Given the description of an element on the screen output the (x, y) to click on. 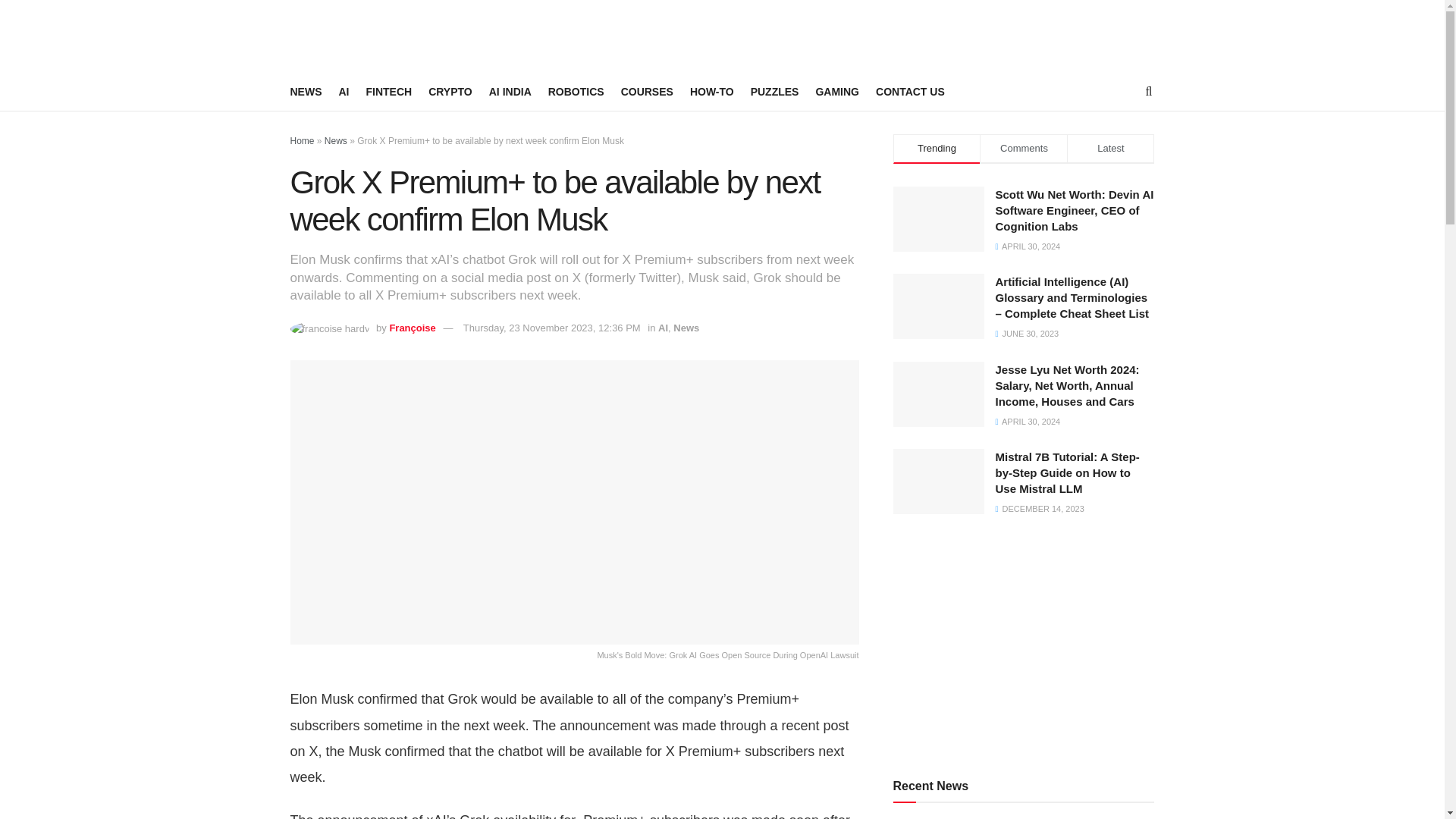
NEWS (305, 91)
AI INDIA (510, 91)
ROBOTICS (576, 91)
CRYPTO (449, 91)
FINTECH (388, 91)
News (335, 140)
COURSES (646, 91)
HOW-TO (711, 91)
CONTACT US (910, 91)
GAMING (837, 91)
